Given the description of an element on the screen output the (x, y) to click on. 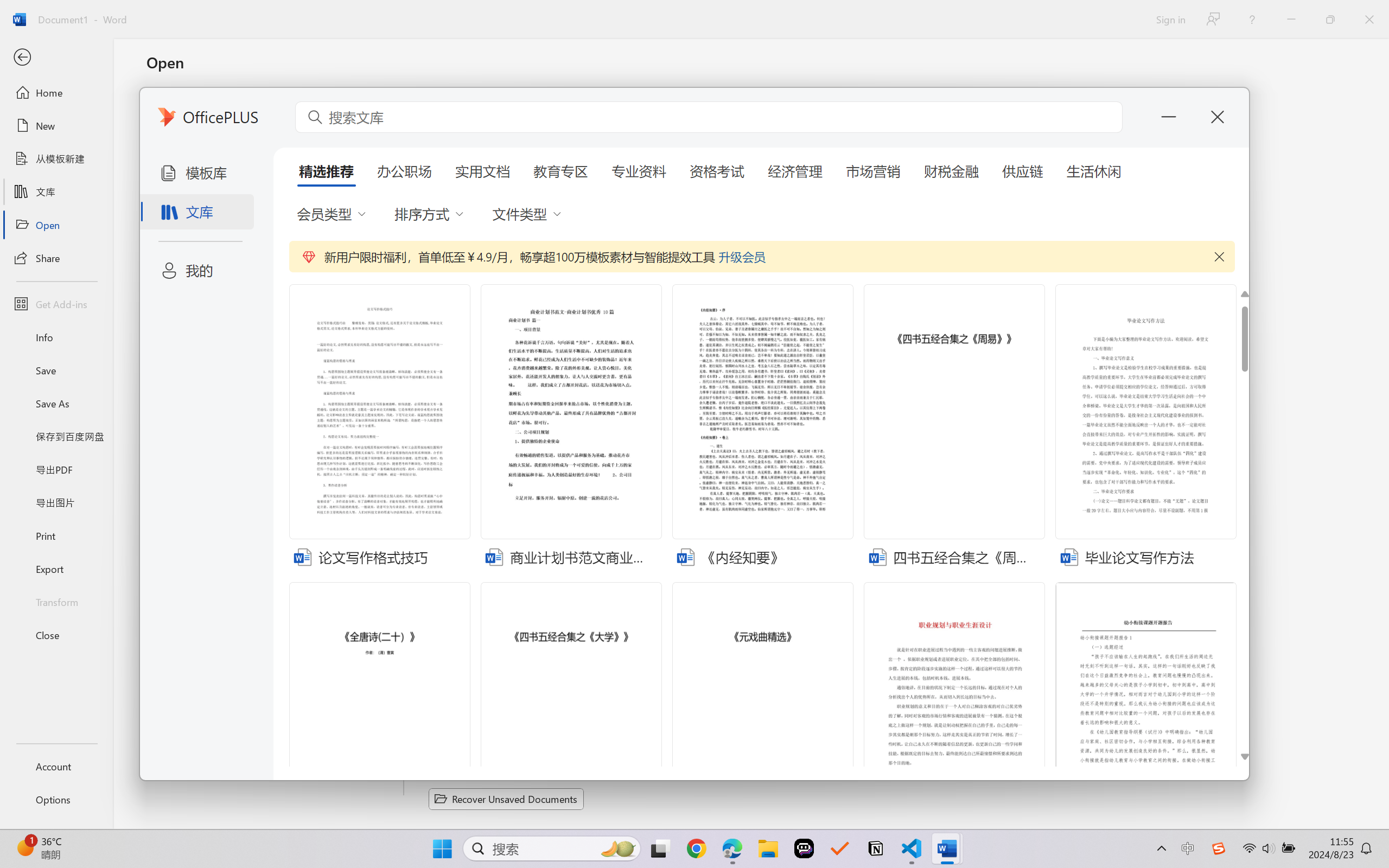
New (56, 125)
Save As (56, 403)
Account (56, 765)
